Given the description of an element on the screen output the (x, y) to click on. 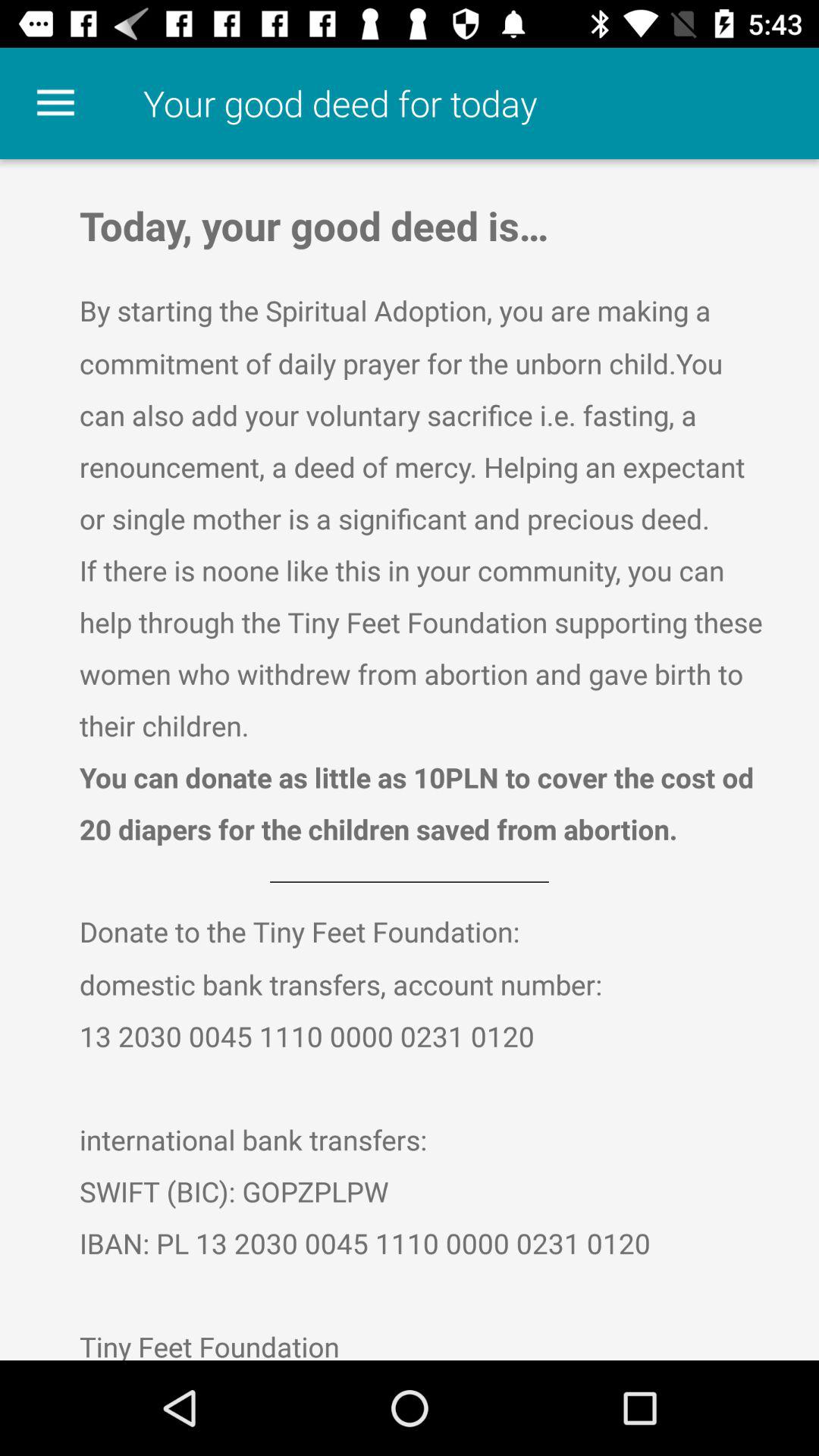
tap the item to the left of the your good deed icon (55, 103)
